Given the description of an element on the screen output the (x, y) to click on. 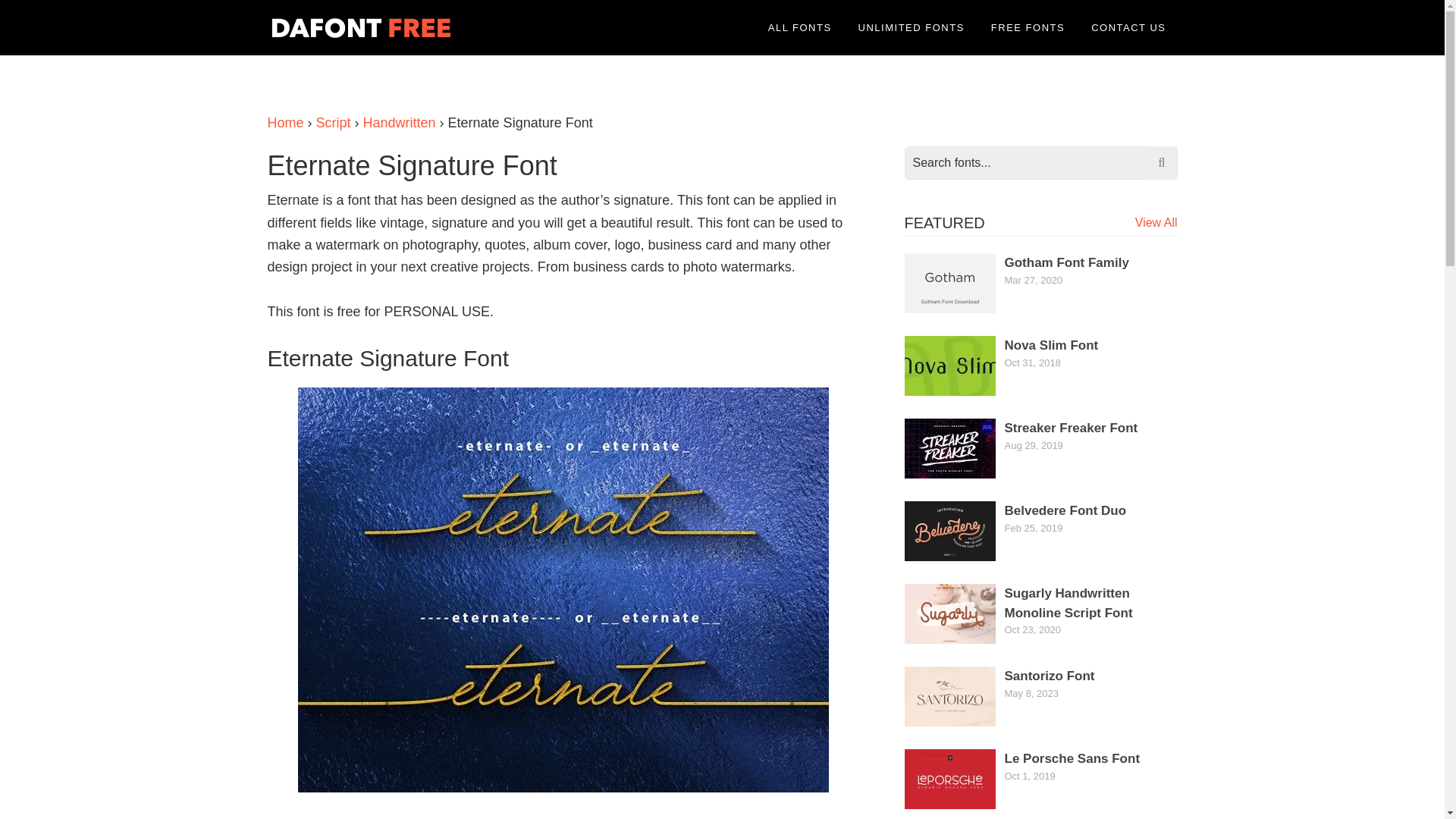
FREE FONTS (1027, 27)
UNLIMITED FONTS (911, 27)
CONTACT US (1128, 27)
Script (332, 122)
Home (284, 122)
Handwritten (398, 122)
ALL FONTS (800, 27)
